Given the description of an element on the screen output the (x, y) to click on. 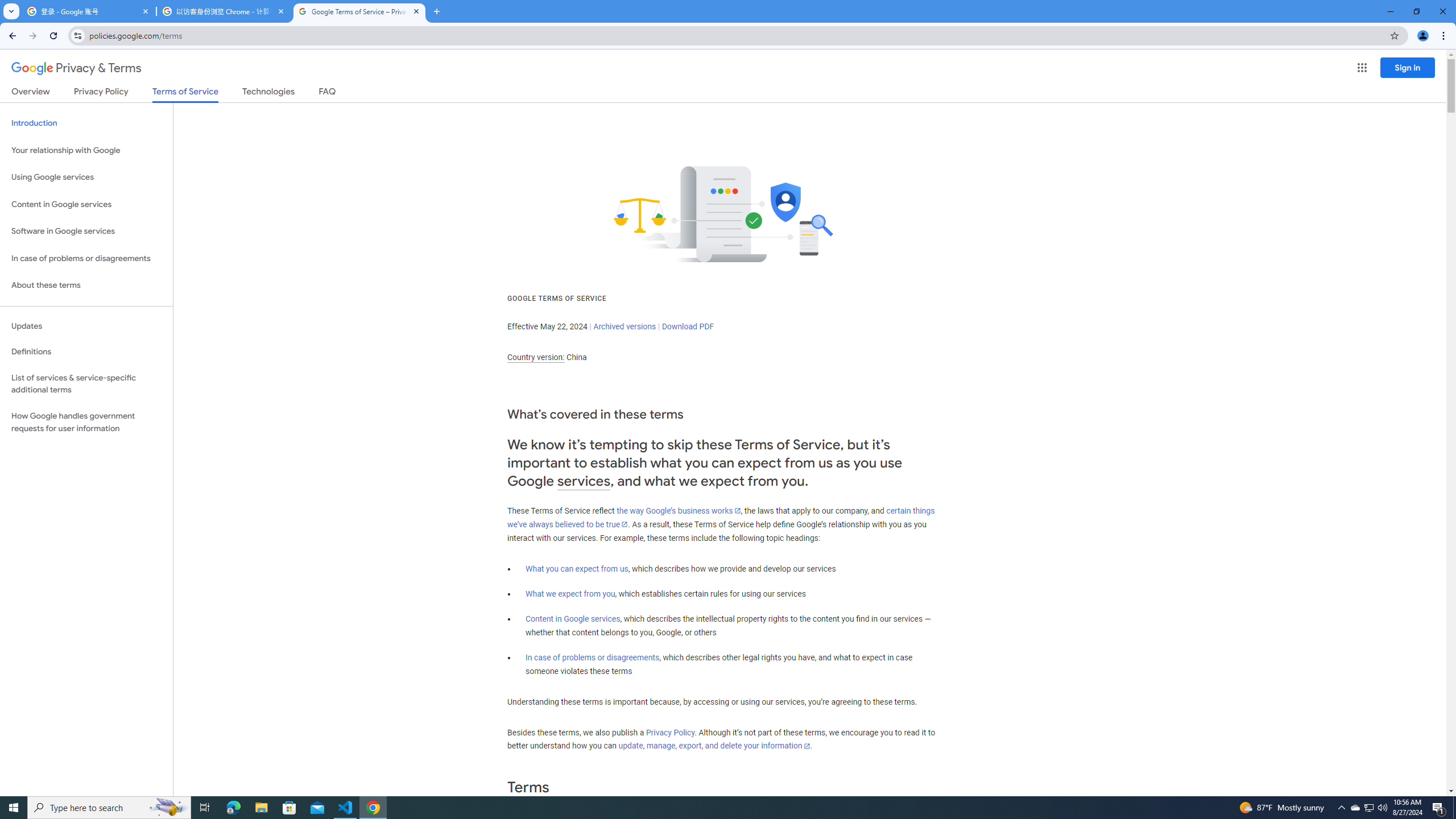
Content in Google services (572, 618)
Archived versions (624, 326)
What we expect from you (570, 593)
What you can expect from us (576, 568)
Using Google services (86, 176)
